Given the description of an element on the screen output the (x, y) to click on. 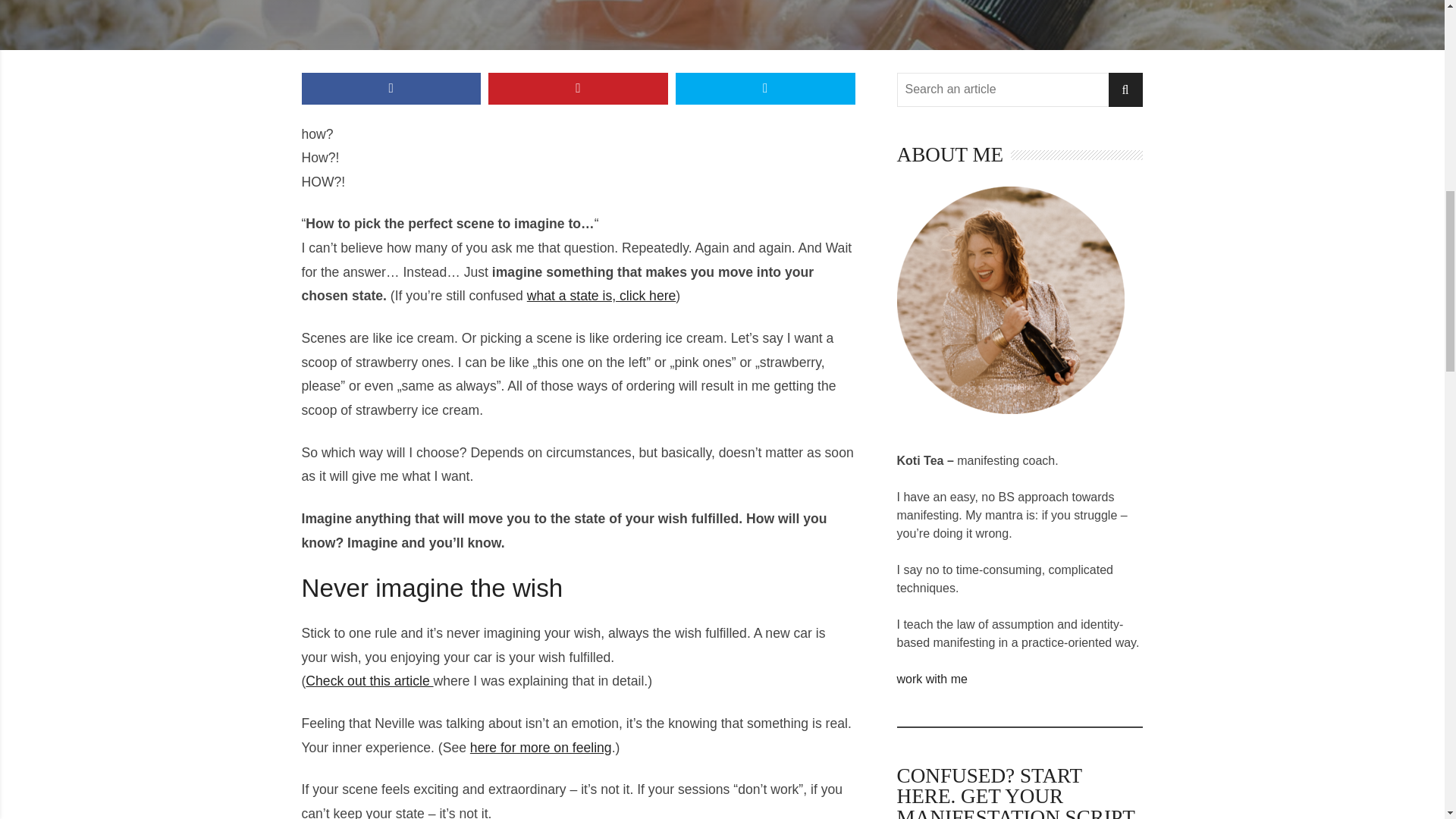
what a state is, click here (602, 295)
here for more on feeling (540, 747)
Check out this article (368, 680)
